Given the description of an element on the screen output the (x, y) to click on. 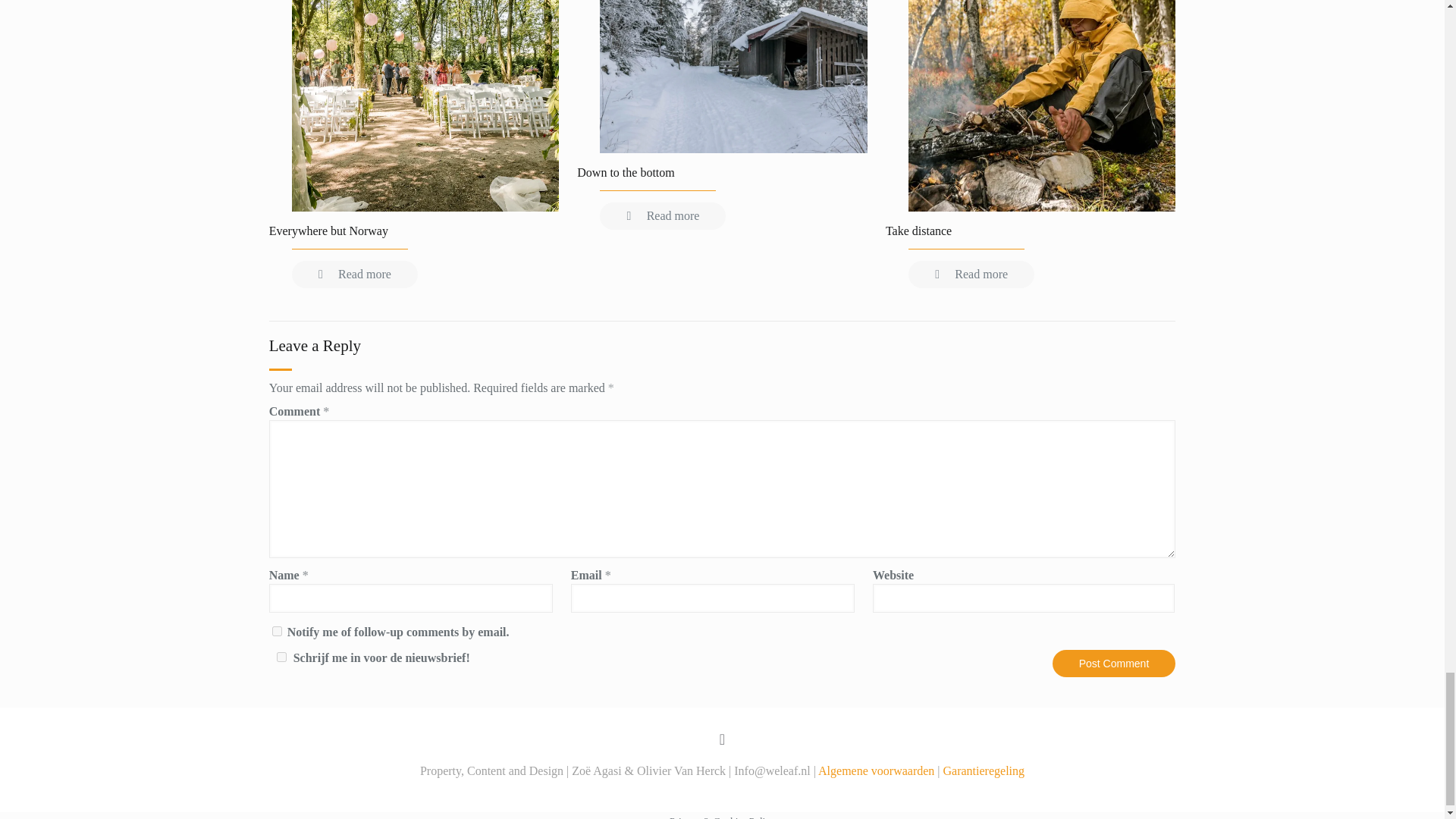
1 (281, 656)
Facebook (702, 790)
Post Comment (1114, 663)
subscribe (277, 631)
YouTube (722, 790)
